Given the description of an element on the screen output the (x, y) to click on. 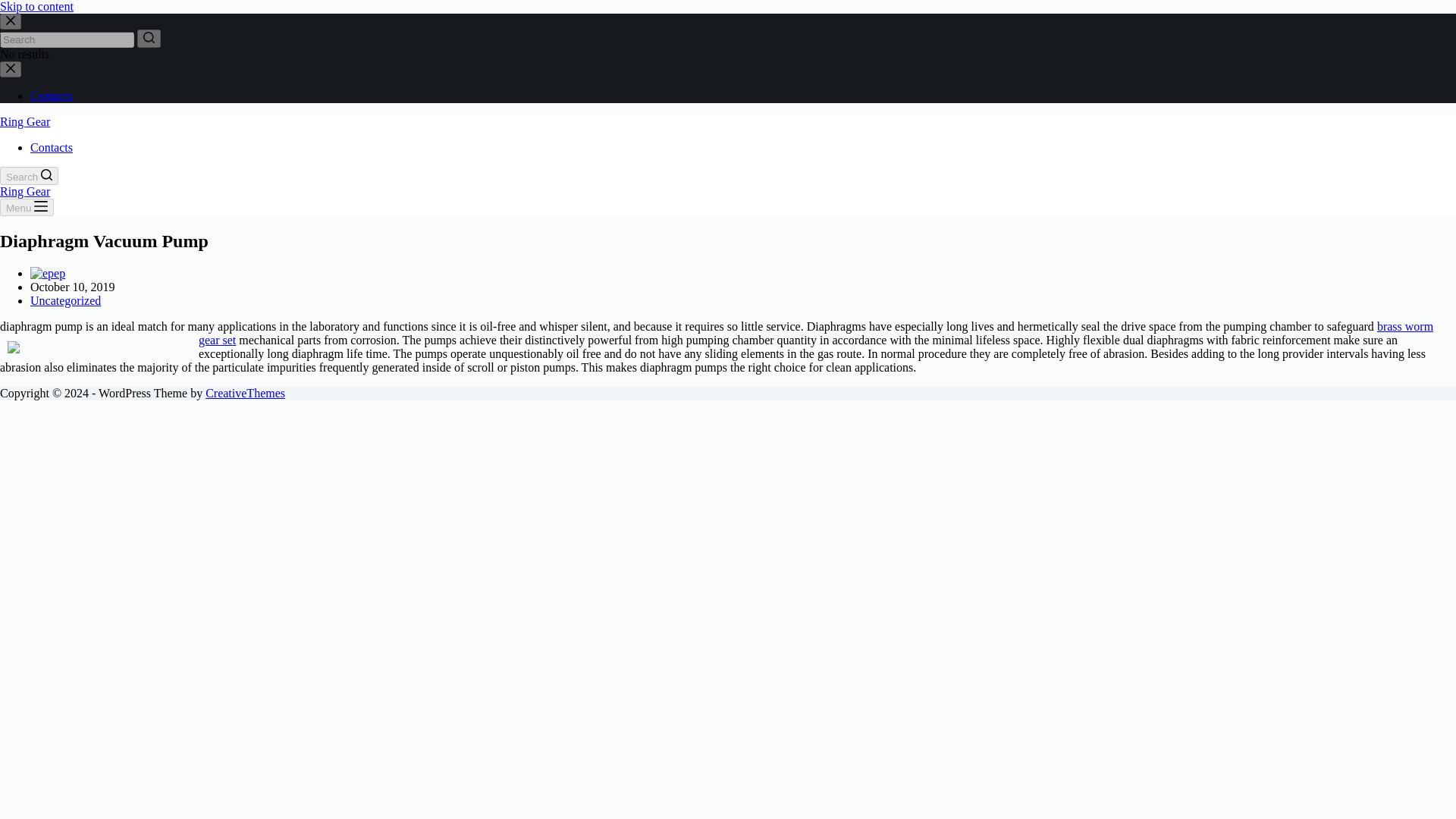
brass worm gear set (815, 333)
Skip to content (37, 6)
Uncategorized (65, 300)
Contacts (51, 95)
Search for... (66, 39)
CreativeThemes (245, 392)
Menu (26, 207)
Ring Gear (24, 121)
Ring Gear (24, 191)
Search (29, 176)
